Given the description of an element on the screen output the (x, y) to click on. 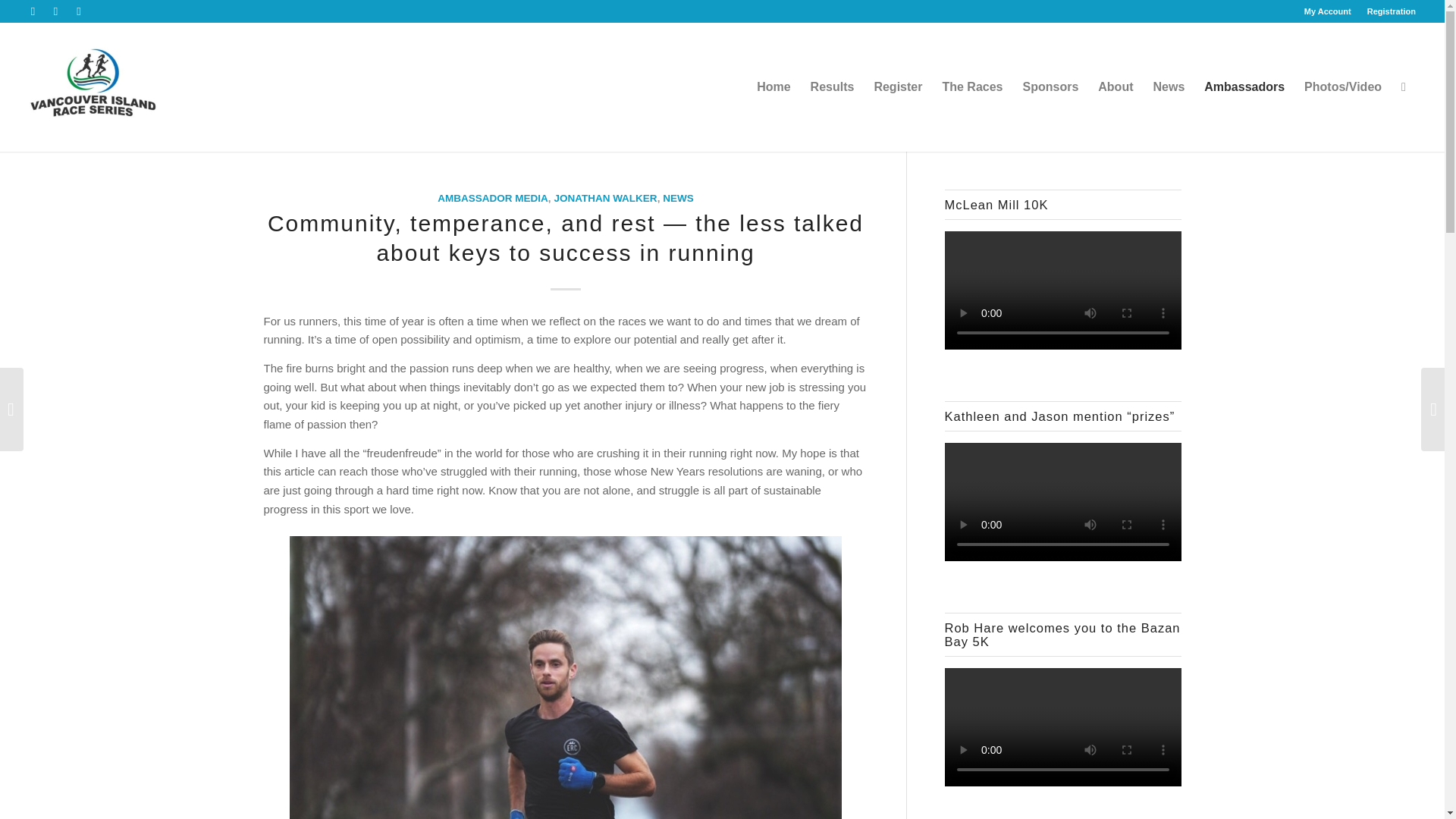
My Account (1327, 11)
Registration (1391, 11)
Instagram (78, 11)
Facebook (55, 11)
X (32, 11)
